Given the description of an element on the screen output the (x, y) to click on. 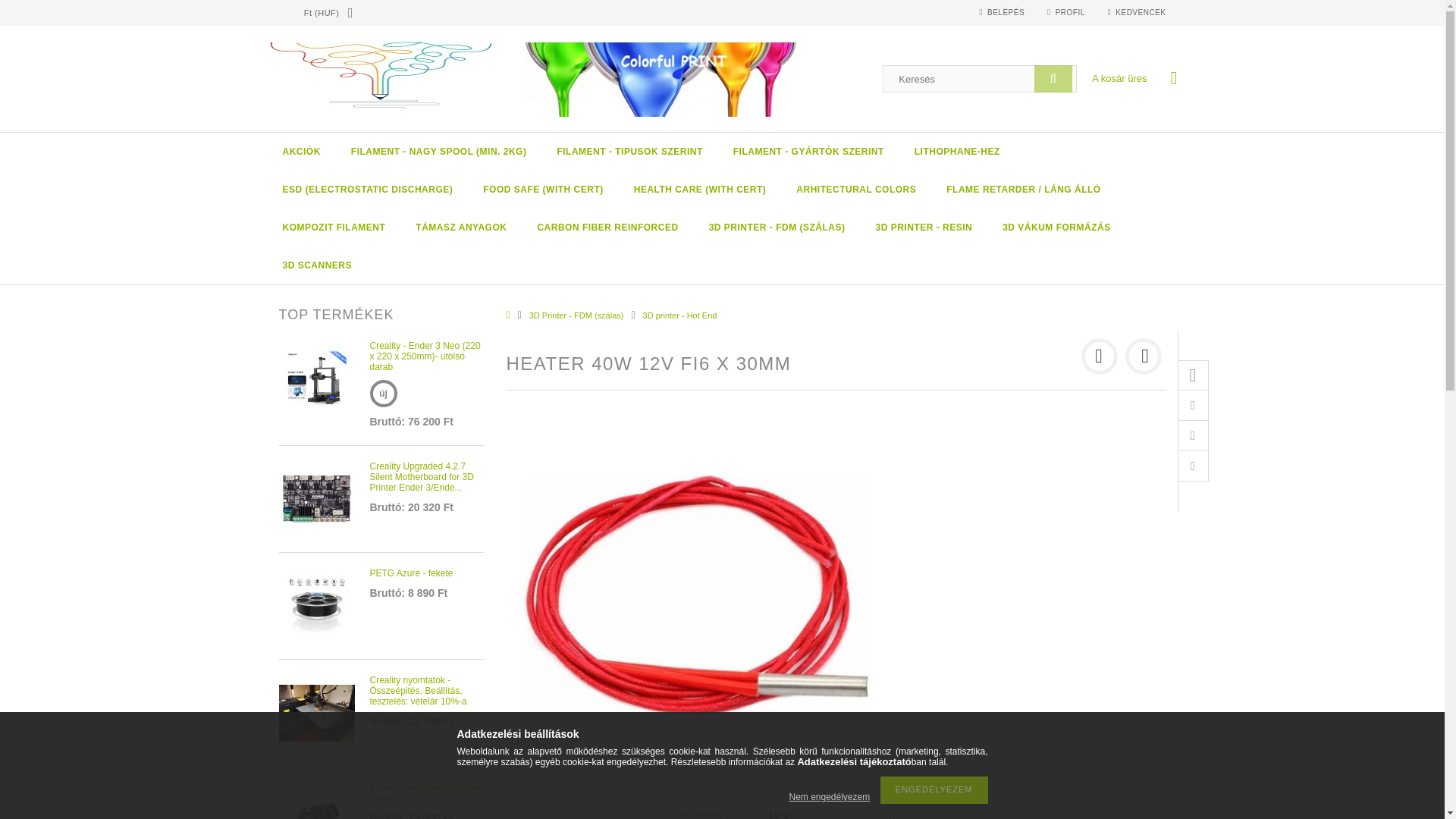
PETG Azure - fekete (317, 605)
Ender Direct Drive extruder - komplett (317, 816)
PROFIL (1065, 12)
KEDVENCEK (1137, 12)
PETG Azure - fekete (317, 604)
